Given the description of an element on the screen output the (x, y) to click on. 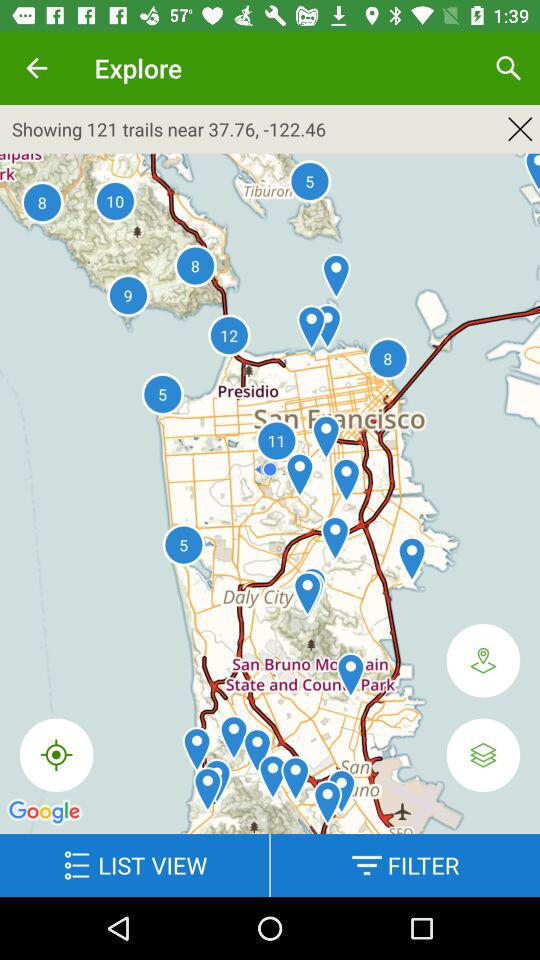
select icon next to explore (36, 68)
